Given the description of an element on the screen output the (x, y) to click on. 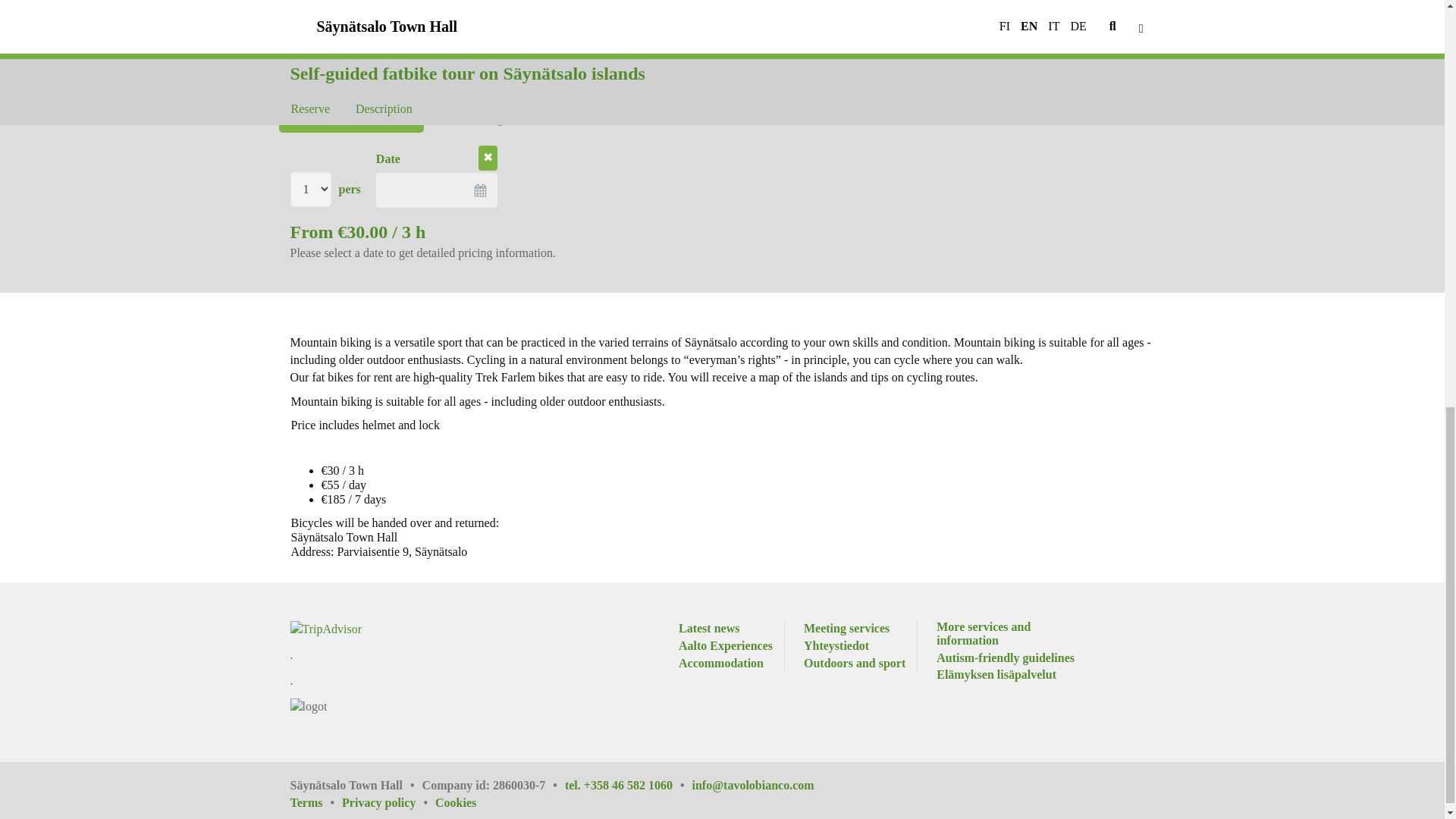
Overnight reservation (509, 118)
Accommodation (720, 663)
Meeting services (846, 629)
Terms (315, 803)
Privacy policy (388, 803)
Reserve (310, 77)
Short reservation (351, 118)
Autism-friendly guidelines (1005, 658)
Outdoors and sport (854, 663)
Aalto Experiences (725, 646)
Cookies (455, 803)
Latest news (708, 629)
Yhteystiedot (836, 646)
Description (384, 77)
More services and information (1008, 633)
